Given the description of an element on the screen output the (x, y) to click on. 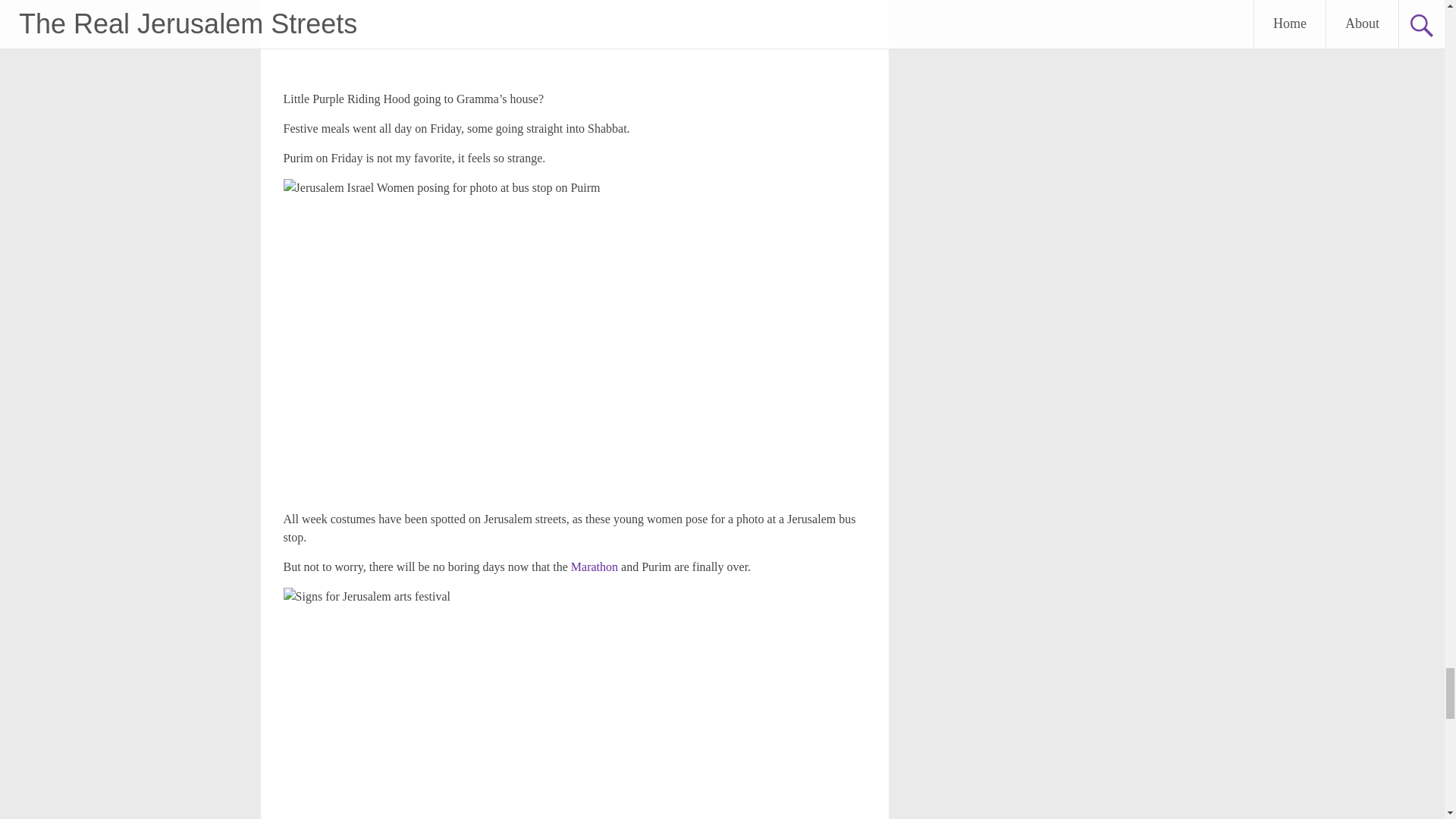
Marathon (592, 566)
